Given the description of an element on the screen output the (x, y) to click on. 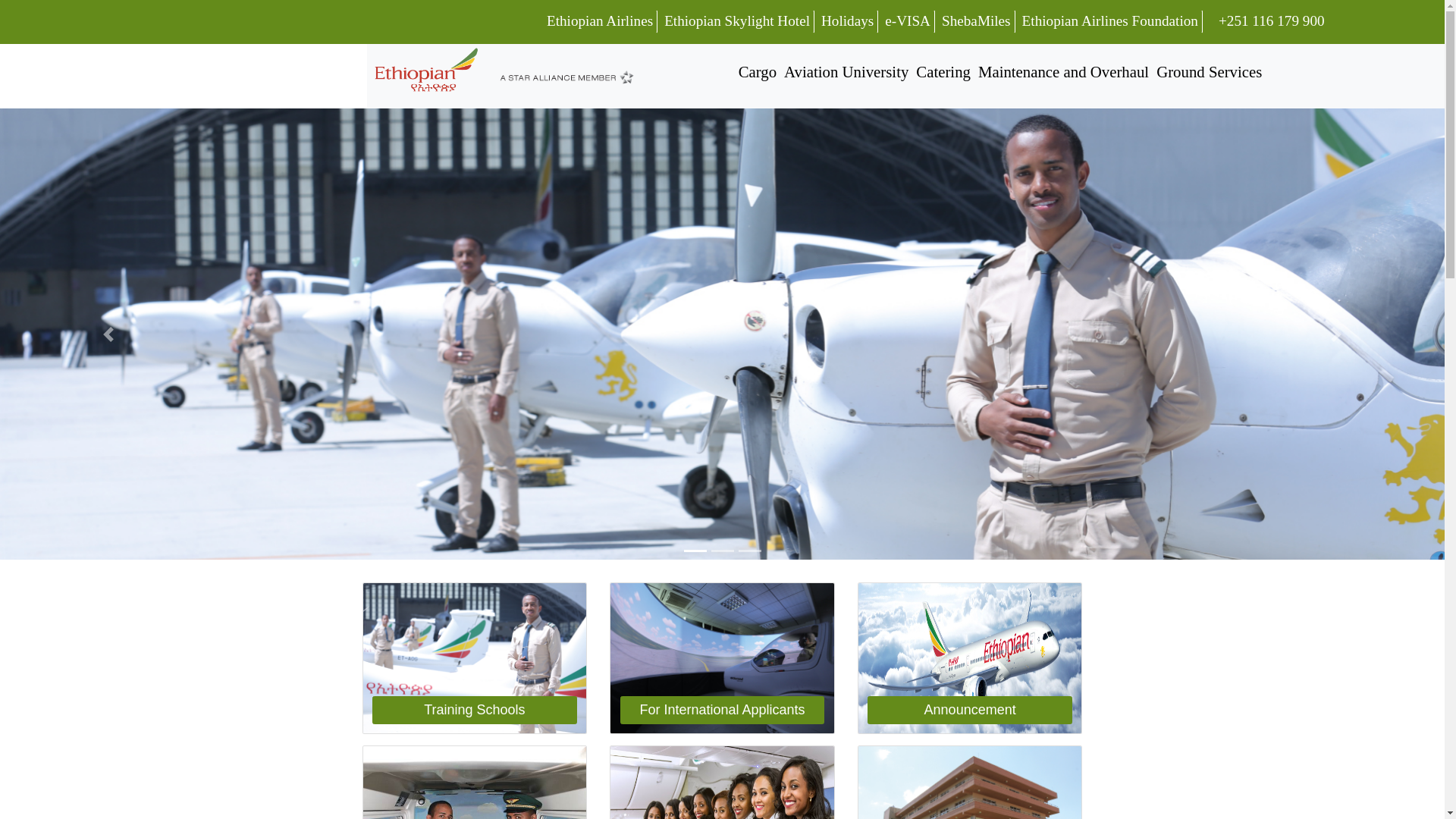
600-x-400--EAA-training (722, 658)
Catering (943, 72)
600-x-400-avation-4 (474, 658)
Training Schools (474, 709)
Holidays (846, 21)
600-x-400-px-aircraft-2 (970, 658)
e-VISA (907, 21)
Ethiopian-Airlines-All-Female-Flight-Crew (722, 782)
Announcement (969, 709)
Ground Services (1209, 72)
Cargo (757, 72)
Ethiopian Airlines (599, 21)
Ethiopian Skylight Hotel (736, 21)
a3a3 (474, 782)
ShebaMiles (975, 21)
